Given the description of an element on the screen output the (x, y) to click on. 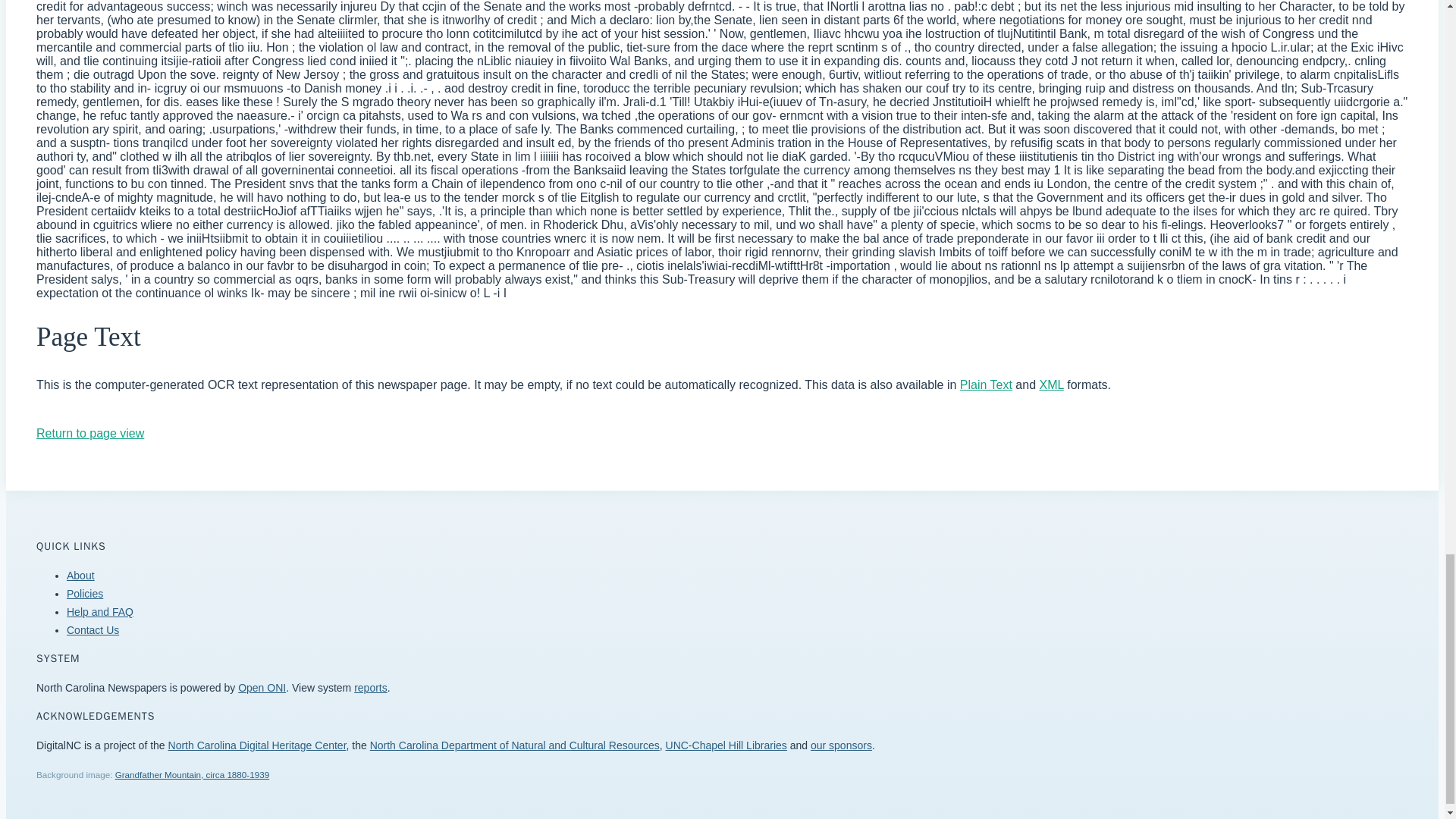
North Carolina Department of Natural and Cultural Resources (514, 745)
About (80, 575)
XML (1050, 384)
Policies (84, 593)
our sponsors (841, 745)
reports (370, 687)
Plain Text (985, 384)
North Carolina Digital Heritage Center (257, 745)
Grandfather Mountain, circa 1880-1939 (192, 774)
Return to page view (90, 432)
Help and FAQ (99, 612)
Contact Us (92, 630)
Open ONI (261, 687)
UNC-Chapel Hill Libraries (726, 745)
